Given the description of an element on the screen output the (x, y) to click on. 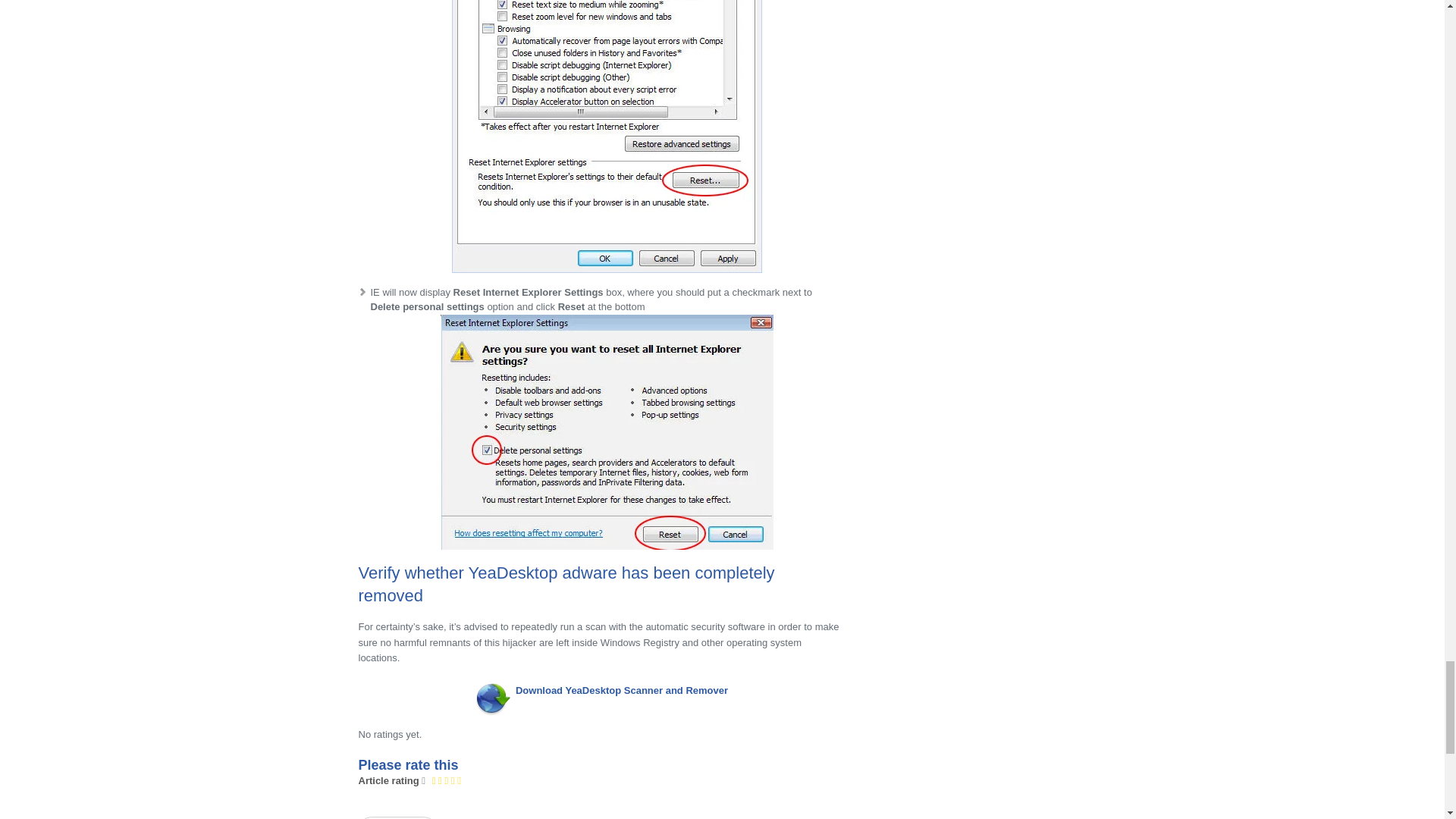
Download YeaDesktop Scanner and Remover (621, 690)
Submit Rating (397, 817)
Submit Rating (397, 817)
